Given the description of an element on the screen output the (x, y) to click on. 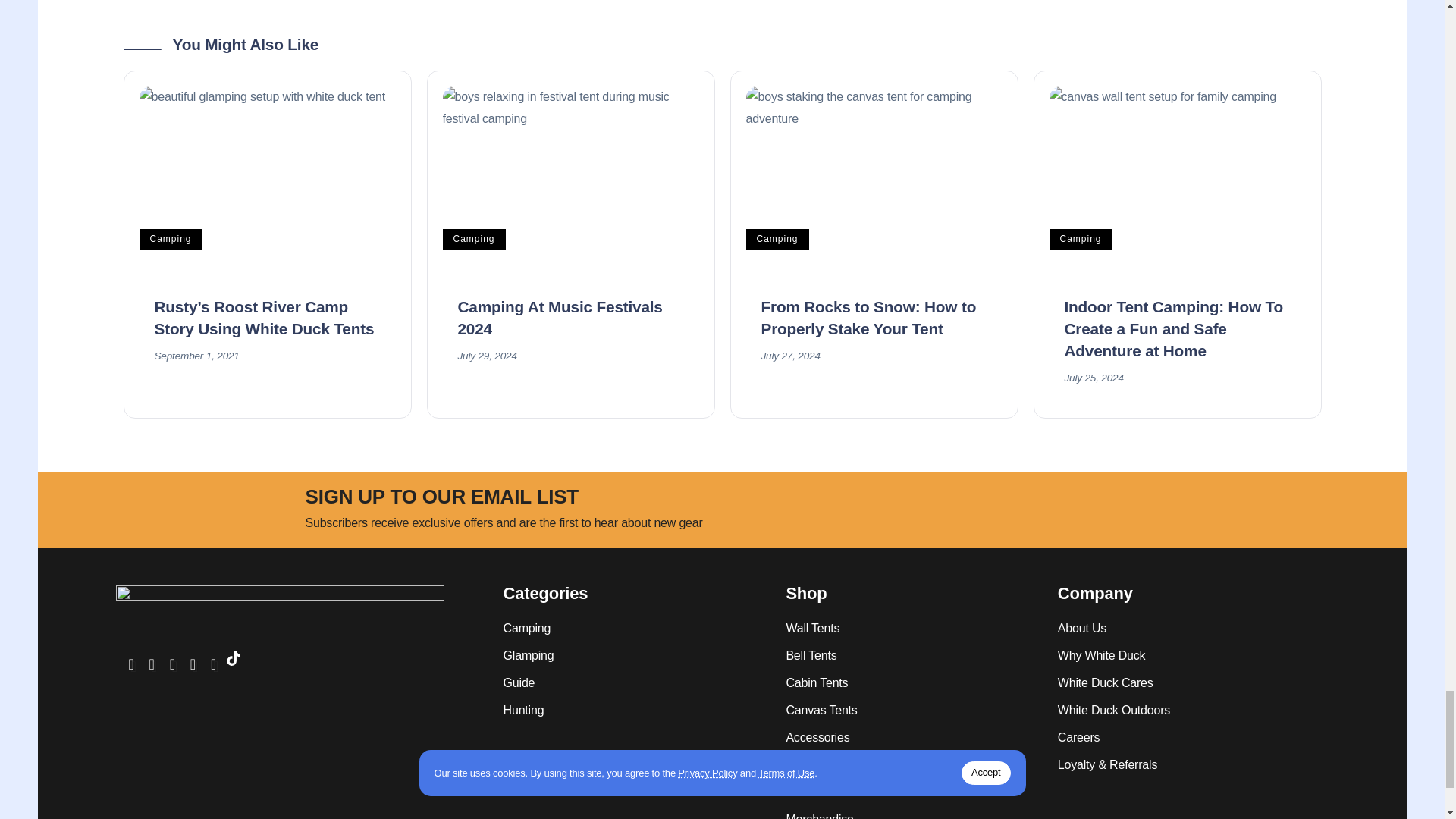
Camping At Music Festivals 2024 (560, 317)
From Rocks to Snow: How to Properly Stake Your Tent (868, 317)
Camping At Music Festivals 2024 (570, 179)
From Rocks to Snow: How to Properly Stake Your Tent (874, 179)
